Given the description of an element on the screen output the (x, y) to click on. 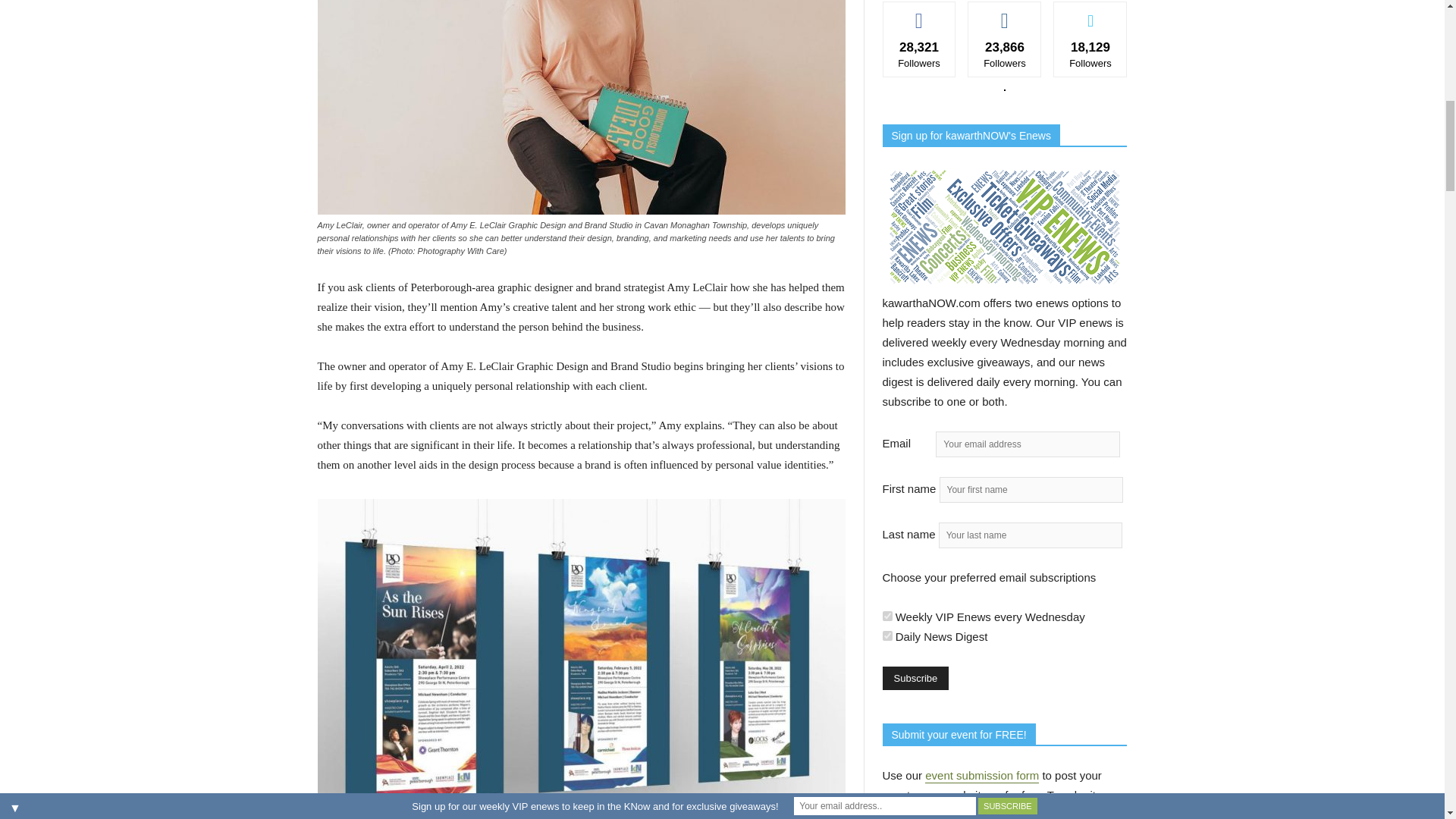
Subscribe (915, 678)
324c67885b (887, 635)
db73b12d6e (887, 615)
